Given the description of an element on the screen output the (x, y) to click on. 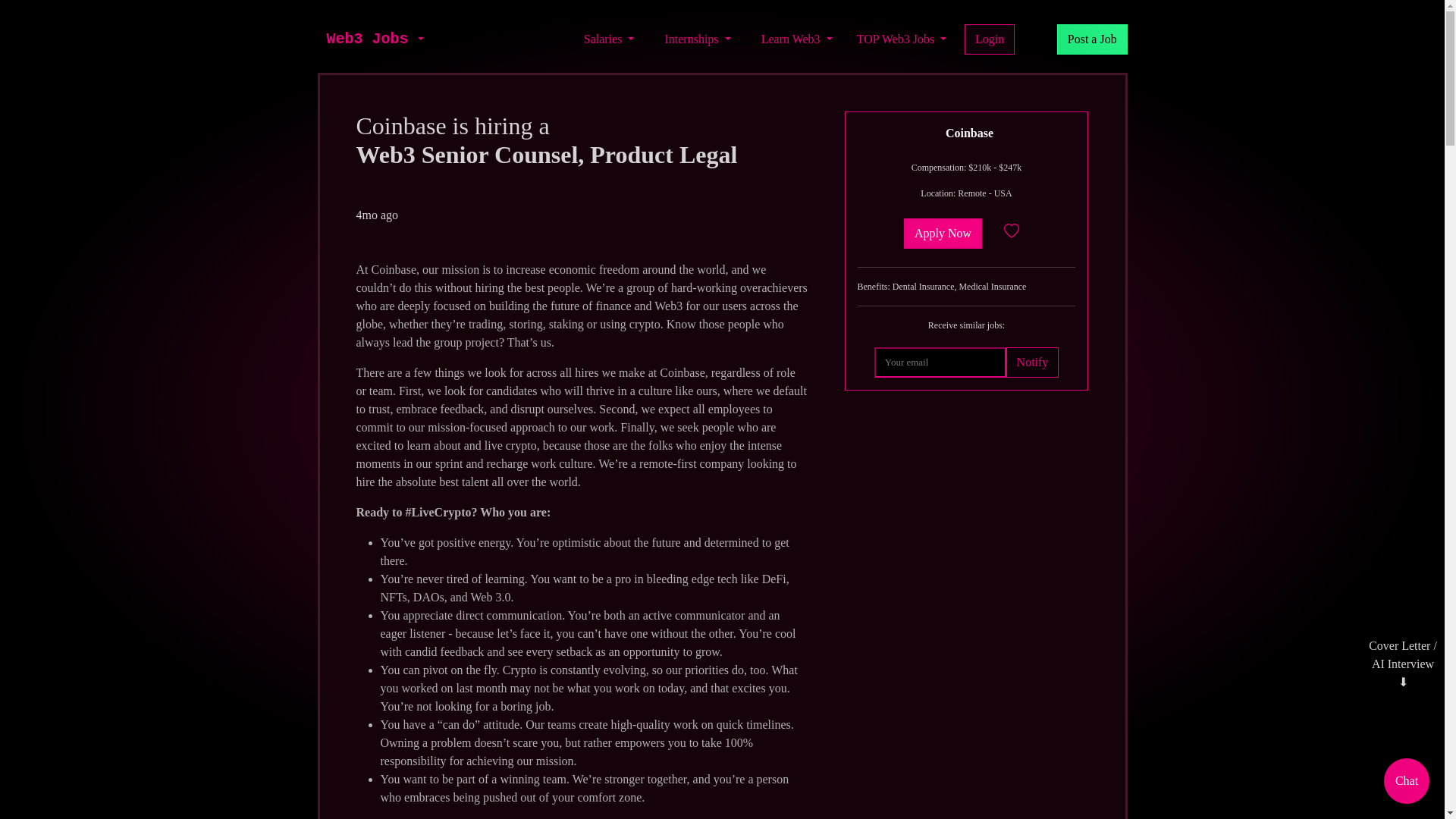
Notify (1032, 362)
Internships (697, 39)
Web3 Jobs (366, 39)
Salaries (609, 39)
Learn Web3 (796, 39)
